Given the description of an element on the screen output the (x, y) to click on. 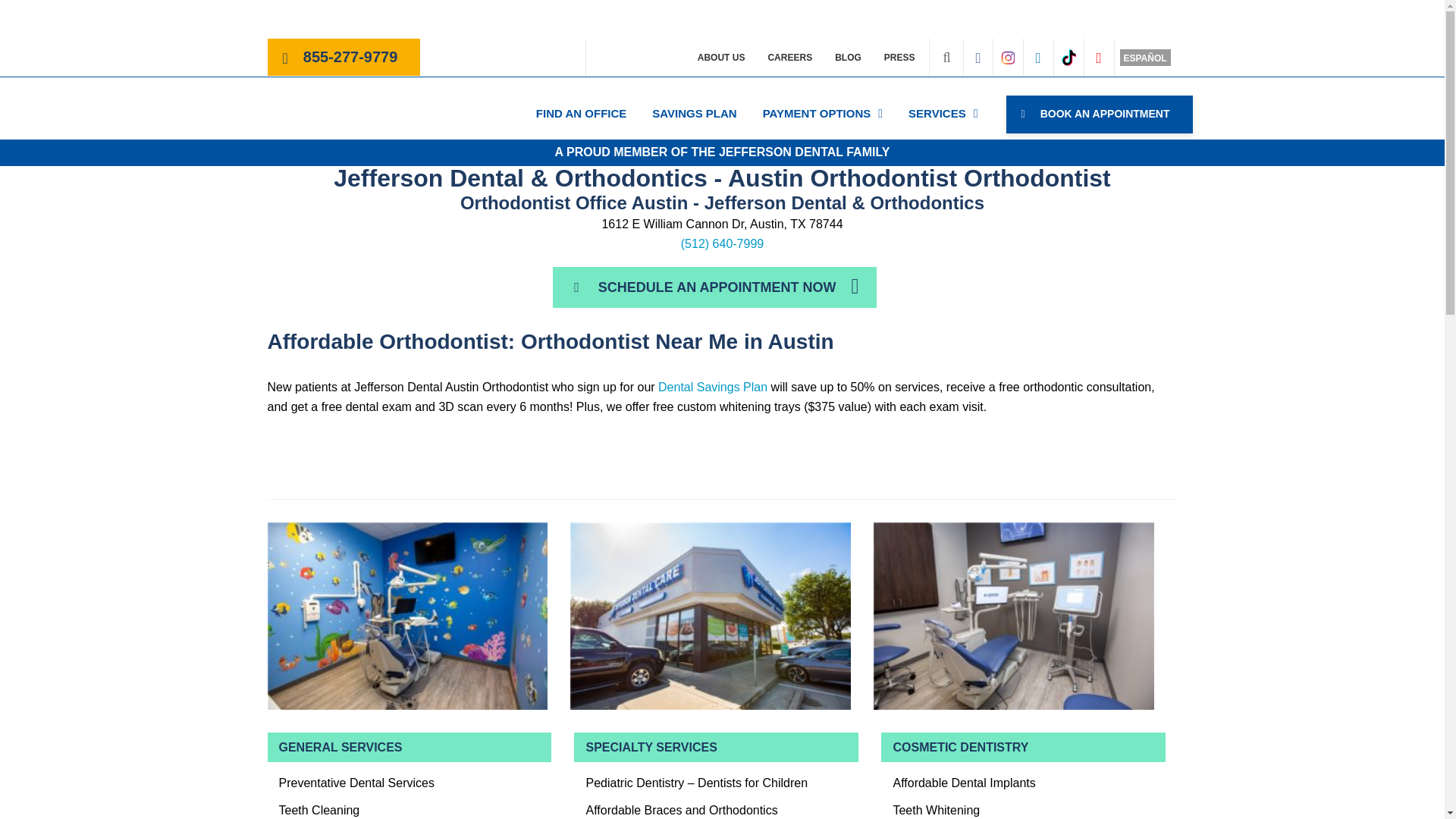
youtube (1098, 57)
SAVINGS PLAN (694, 113)
tiktok (1067, 56)
Instagram (1007, 56)
Facebook (979, 57)
855-277-9779 (349, 59)
BLOG (847, 57)
PRESS (899, 57)
LinkedIn (1037, 57)
PAYMENT OPTIONS (822, 113)
